Given the description of an element on the screen output the (x, y) to click on. 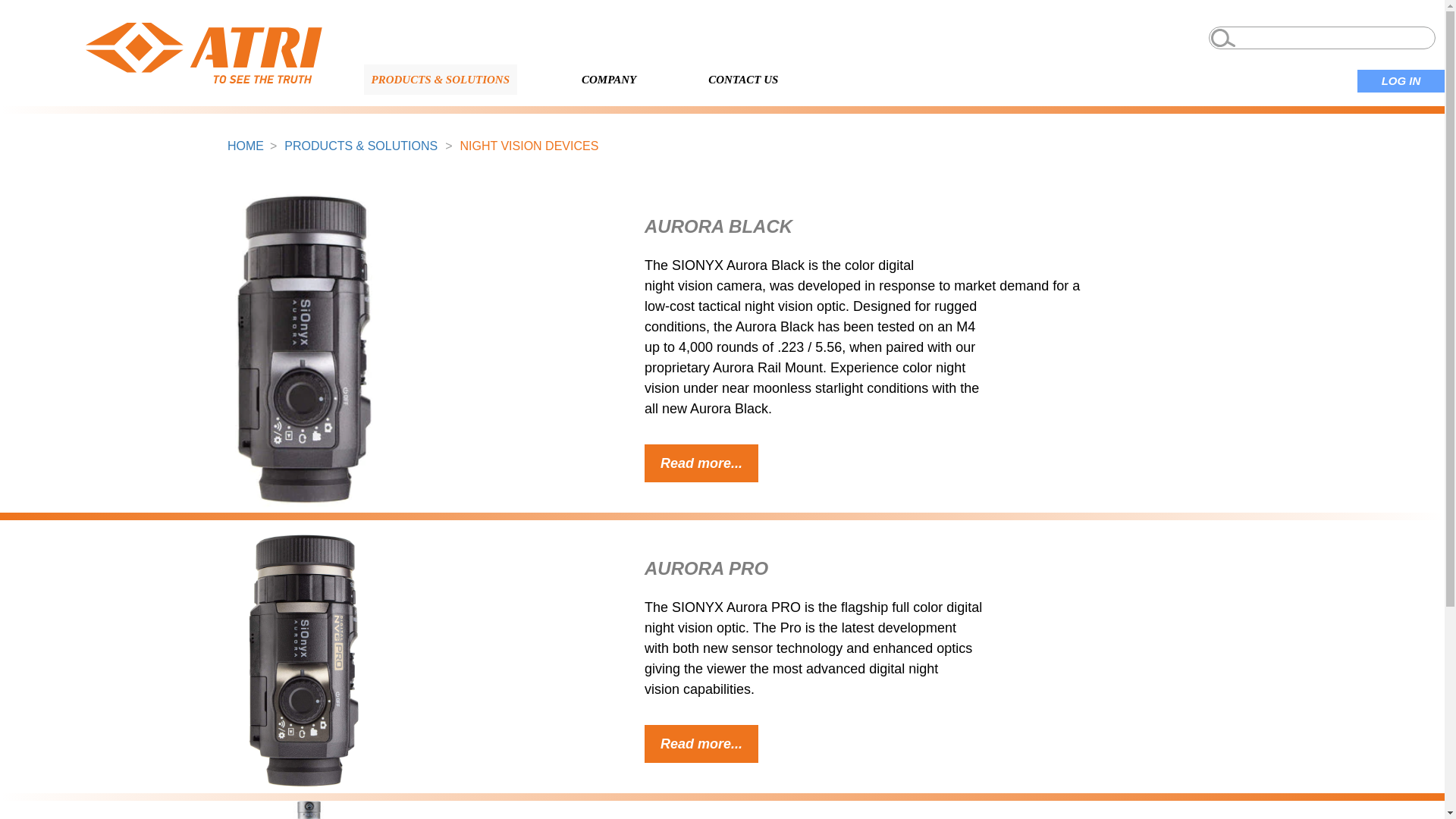
HOME (245, 145)
ATRI (202, 52)
NIGHT VISION DEVICES (529, 145)
COMPANY (608, 79)
SIONYX OPSIN Front (303, 809)
Read more... (701, 463)
CONTACT US (743, 79)
Read more... (701, 743)
Search (45, 22)
